Given the description of an element on the screen output the (x, y) to click on. 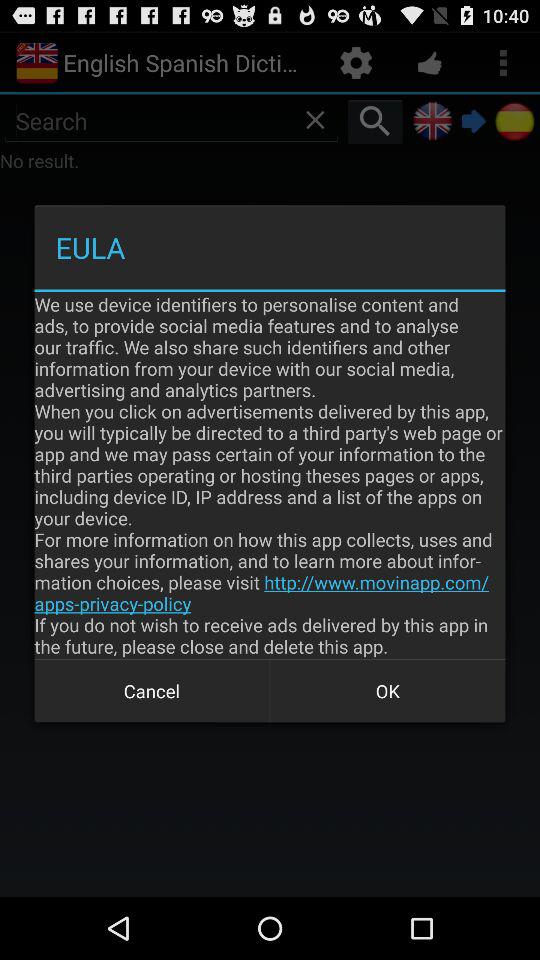
open the app below the we use device icon (387, 690)
